Given the description of an element on the screen output the (x, y) to click on. 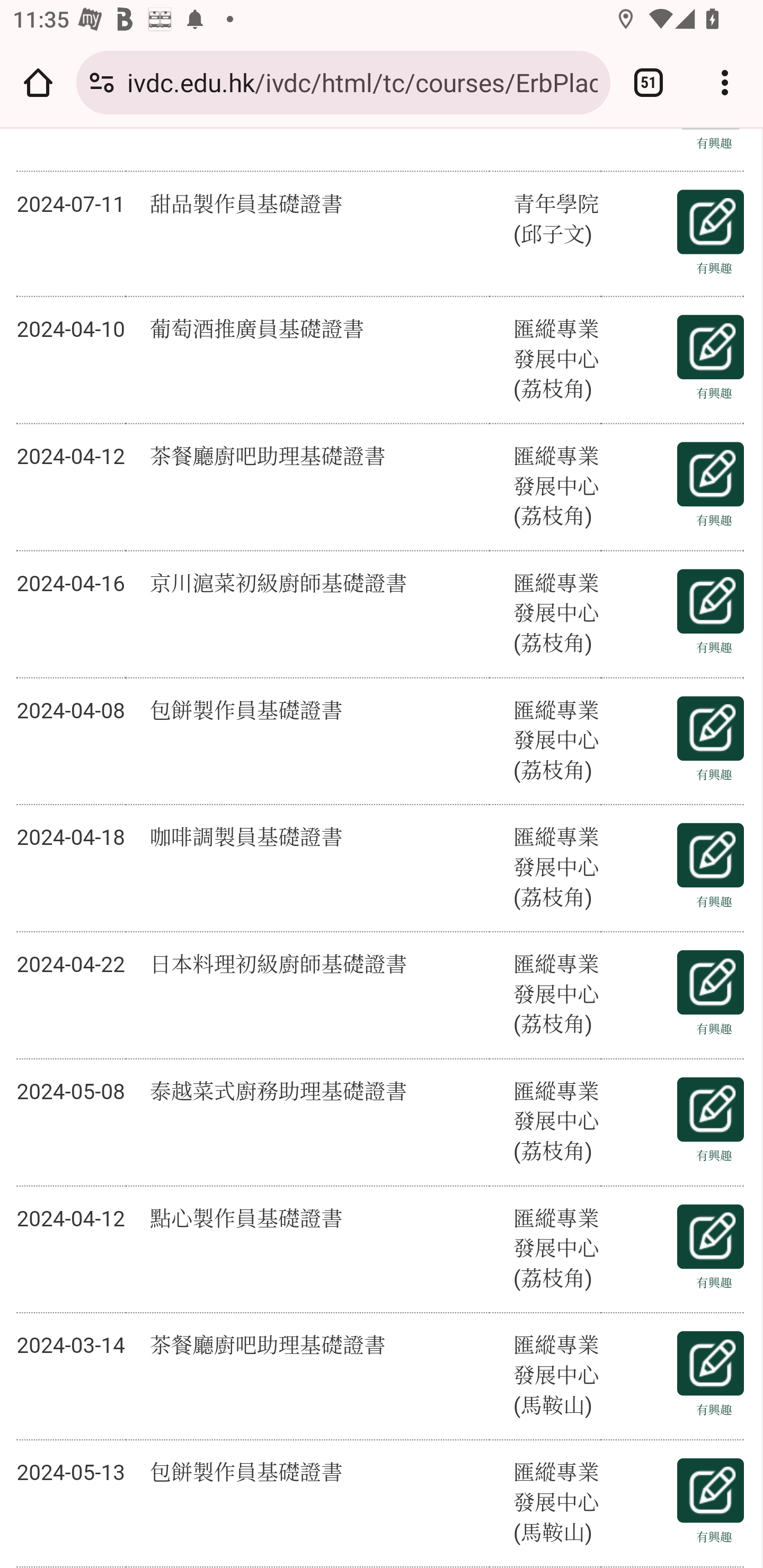
Open the home page (38, 82)
Connection is secure (101, 82)
Switch or close tabs (648, 82)
Customize and control Google Chrome (724, 82)
